Given the description of an element on the screen output the (x, y) to click on. 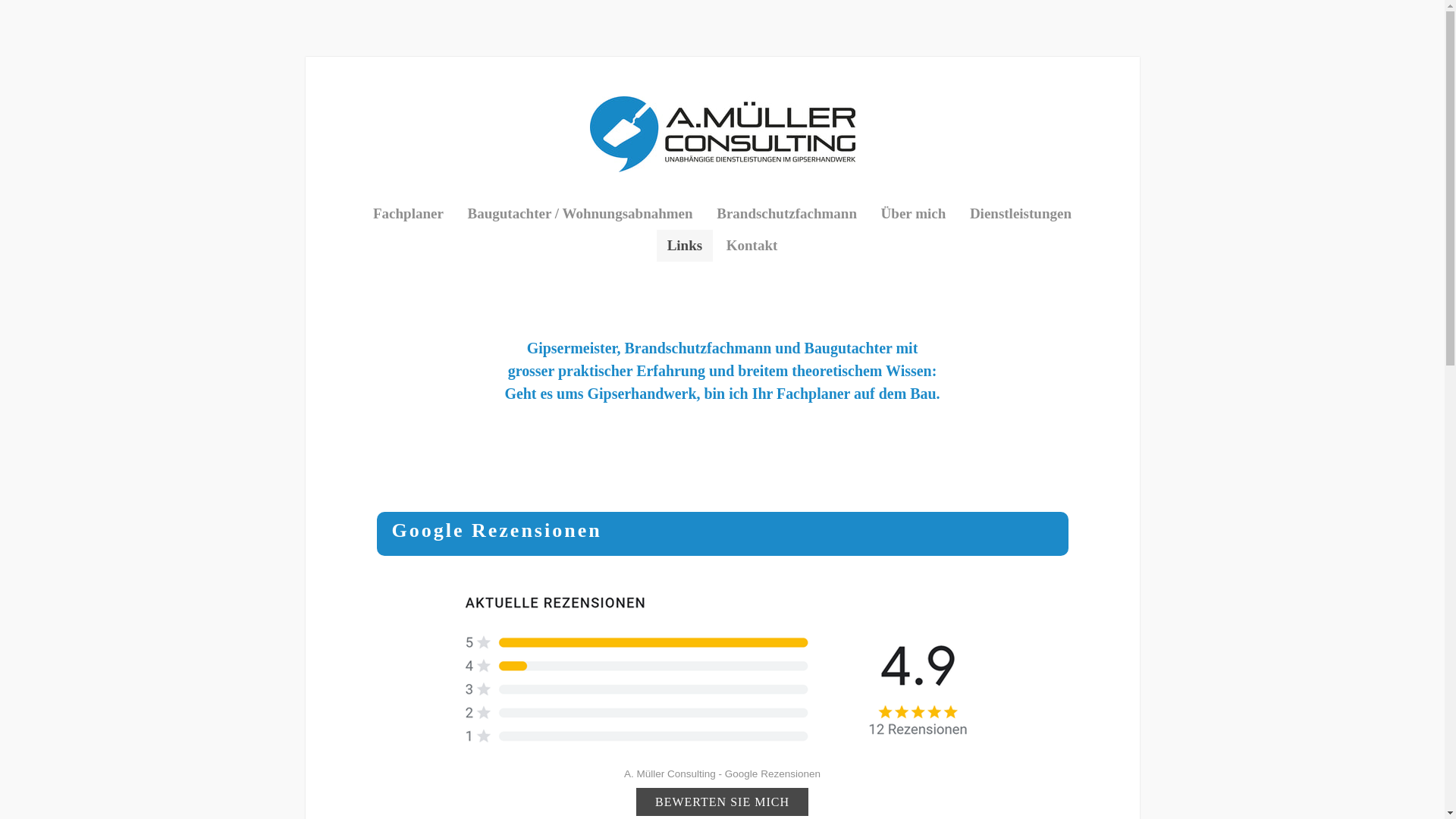
Links Element type: text (684, 245)
Dienstleistungen Element type: text (1020, 213)
Kontakt Element type: text (751, 245)
Fachplaner Element type: text (408, 213)
BEWERTEN SIE MICH Element type: text (722, 801)
Brandschutzfachmann Element type: text (786, 213)
Baugutachter / Wohnungsabnahmen Element type: text (580, 213)
